Given the description of an element on the screen output the (x, y) to click on. 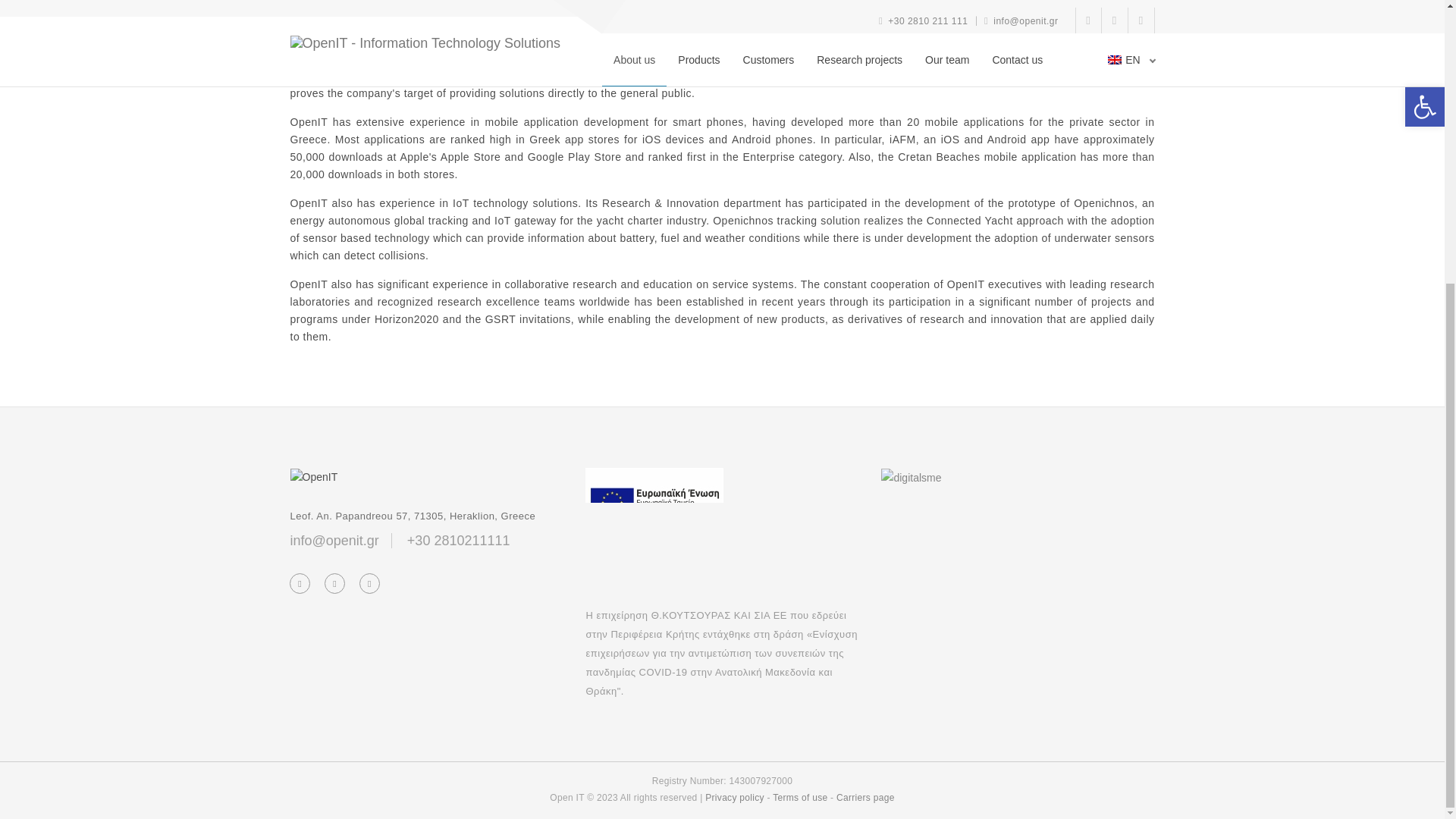
Linkedin (368, 583)
Privacy policy (734, 797)
Twitter (333, 583)
Terms of use (800, 797)
Facebook (300, 583)
Carriers page (865, 797)
